Given the description of an element on the screen output the (x, y) to click on. 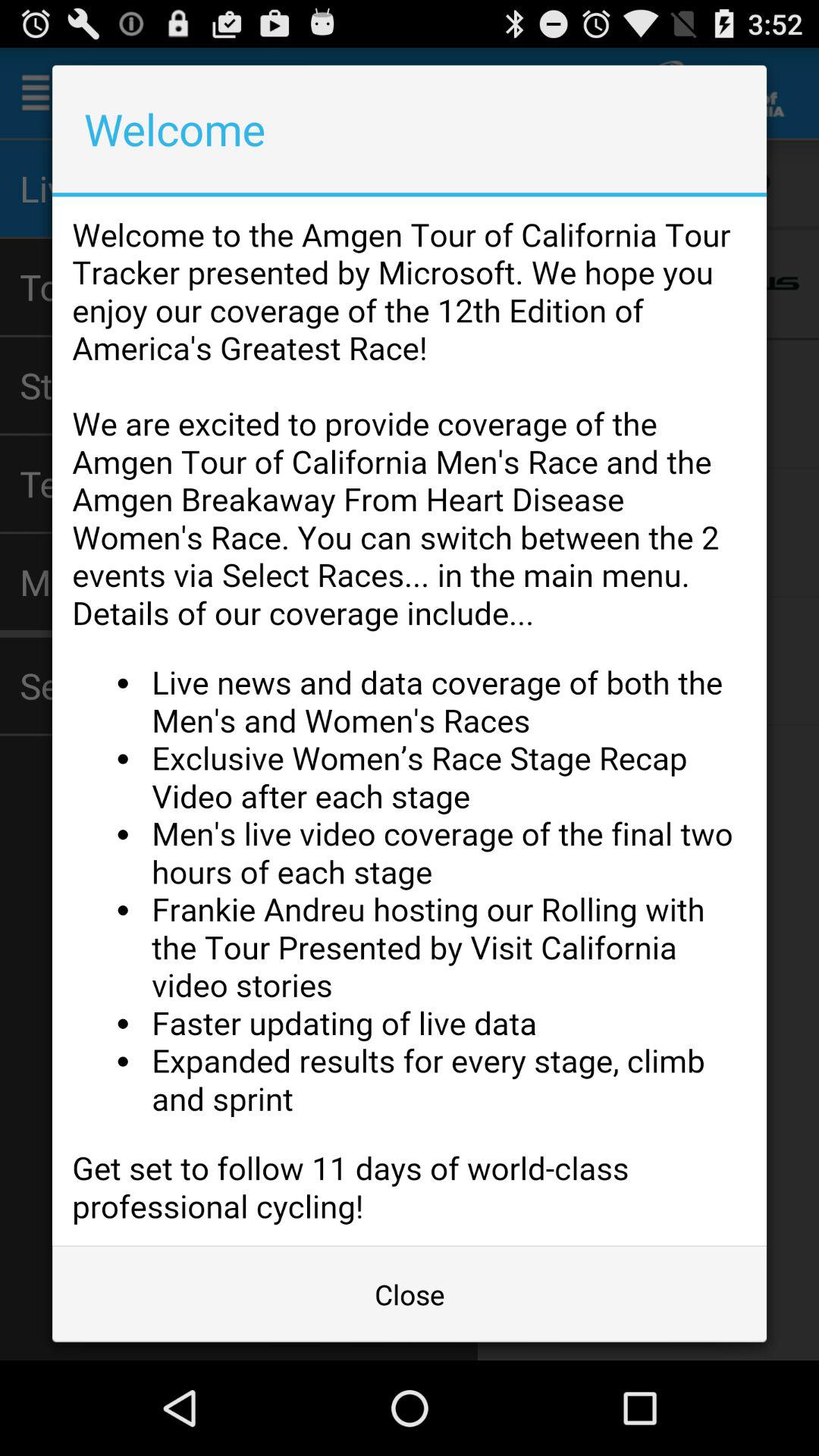
advertisement page (409, 720)
